Given the description of an element on the screen output the (x, y) to click on. 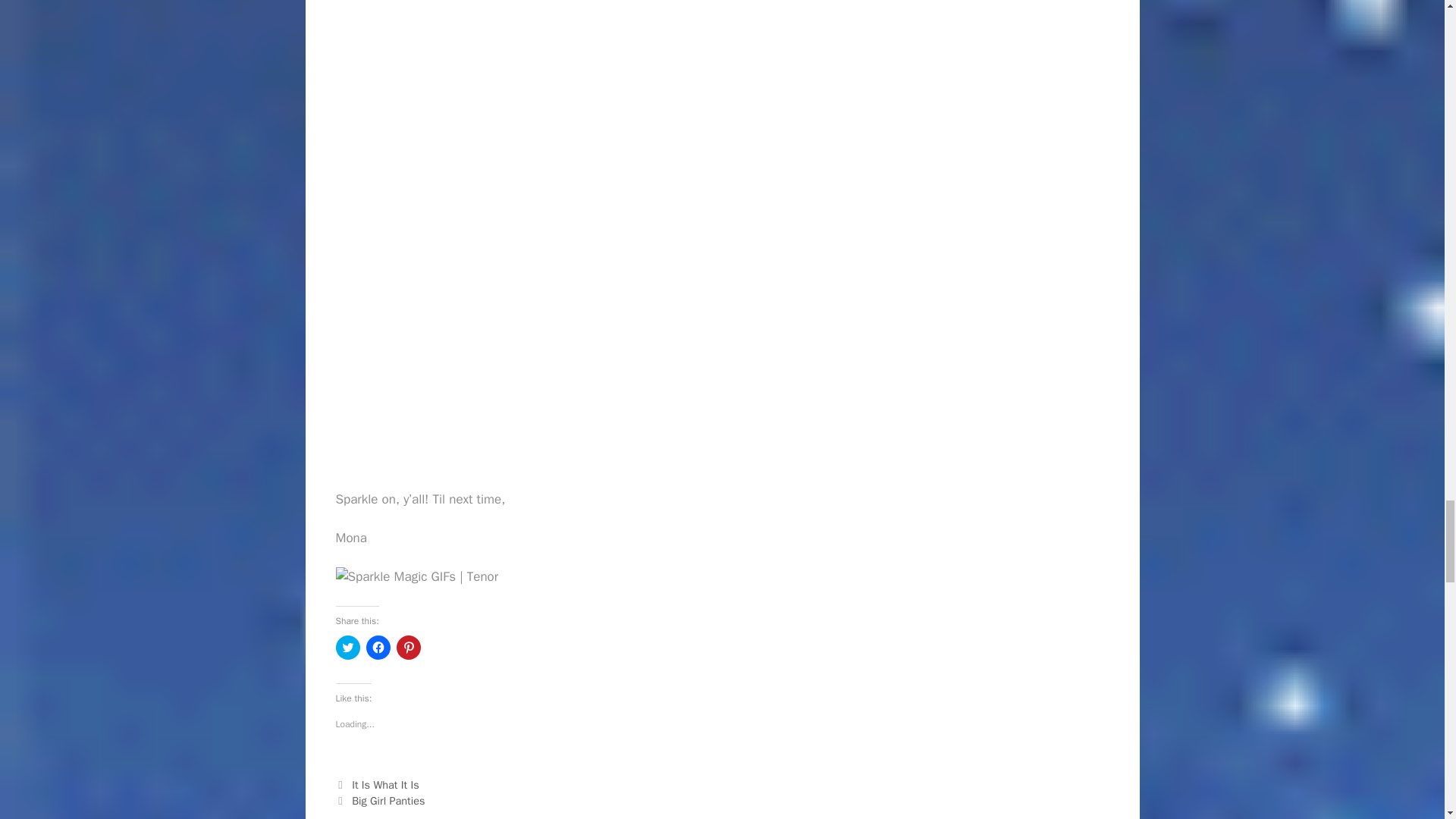
Click to share on Pinterest (408, 647)
It Is What It Is (385, 784)
Big Girl Panties (388, 800)
Click to share on Twitter (346, 647)
Click to share on Facebook (377, 647)
